Given the description of an element on the screen output the (x, y) to click on. 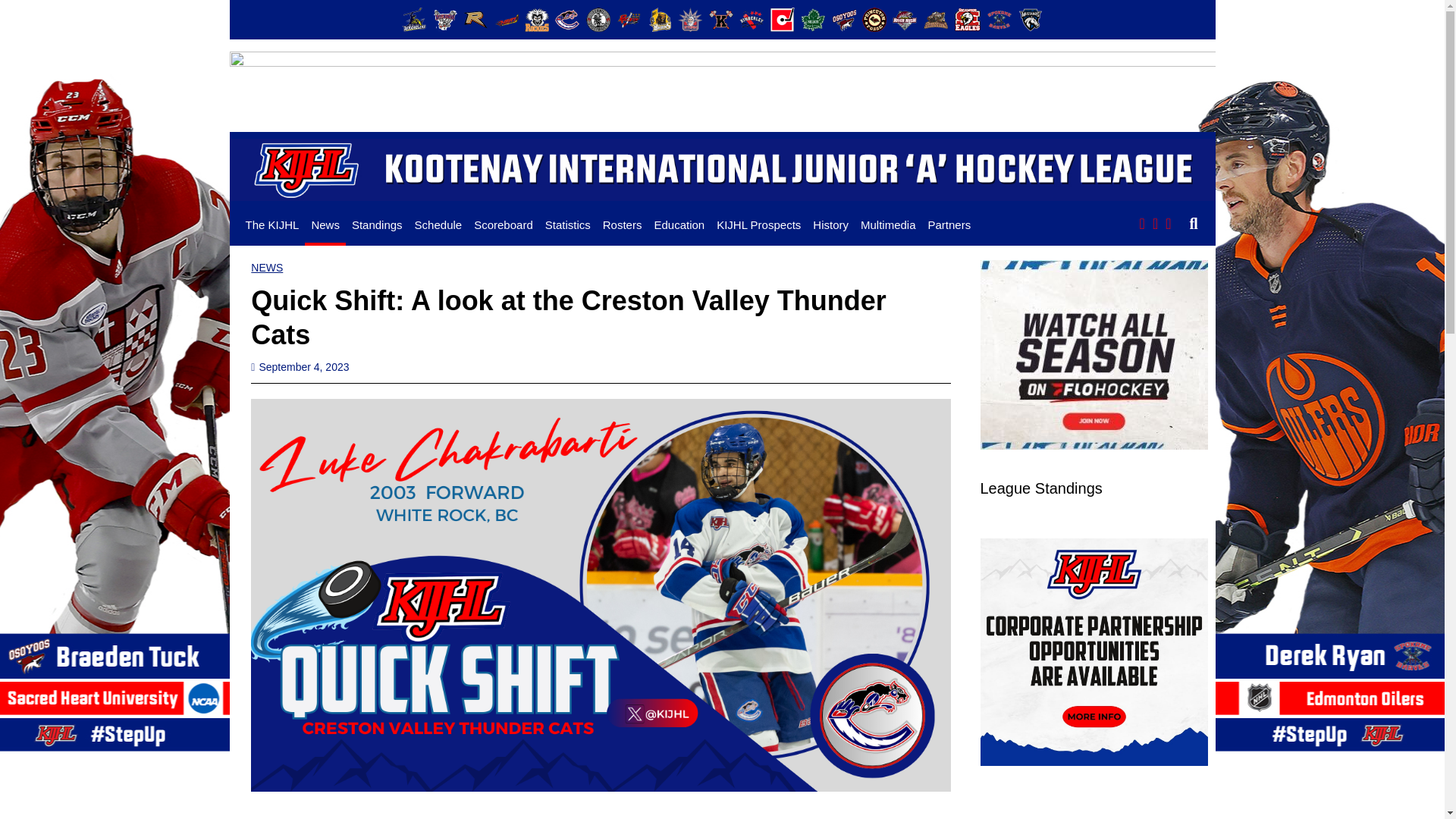
Creston Valley Thunder Cats (566, 19)
Columbia Valley Rockies (536, 19)
Kimberley Dynamiters (751, 19)
Beaver Valley Nitehawks (444, 19)
Golden Rockets (628, 19)
Grand Forks Border Bruins (659, 19)
Kamloops Storm (690, 19)
Kelowna Chiefs (721, 19)
Chase Heat (506, 19)
Fernie Ghostriders (598, 19)
100 Mile House Wranglers (414, 19)
Castlegar Rebels (475, 19)
